Given the description of an element on the screen output the (x, y) to click on. 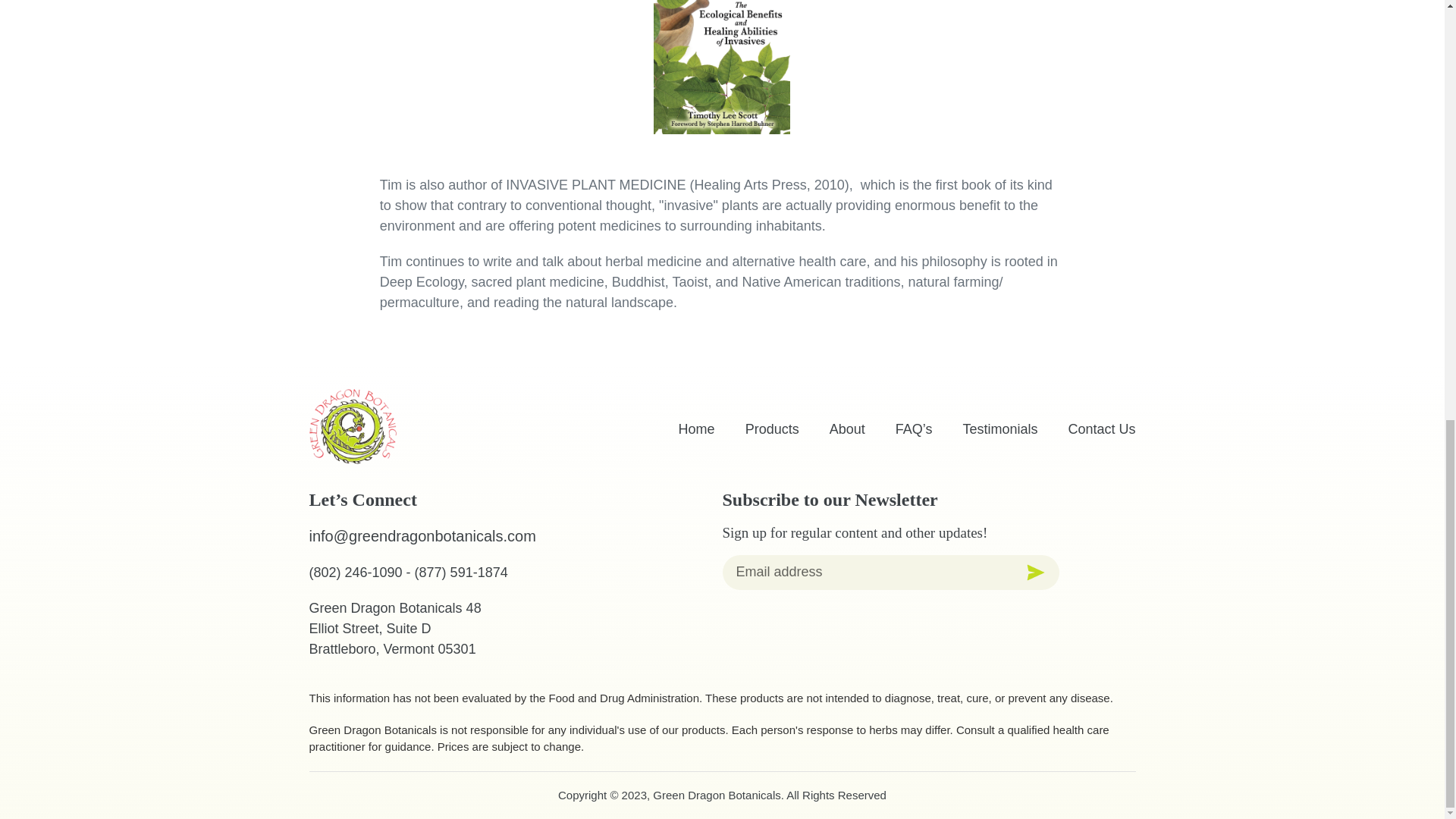
Products (772, 428)
Home (696, 428)
